Given the description of an element on the screen output the (x, y) to click on. 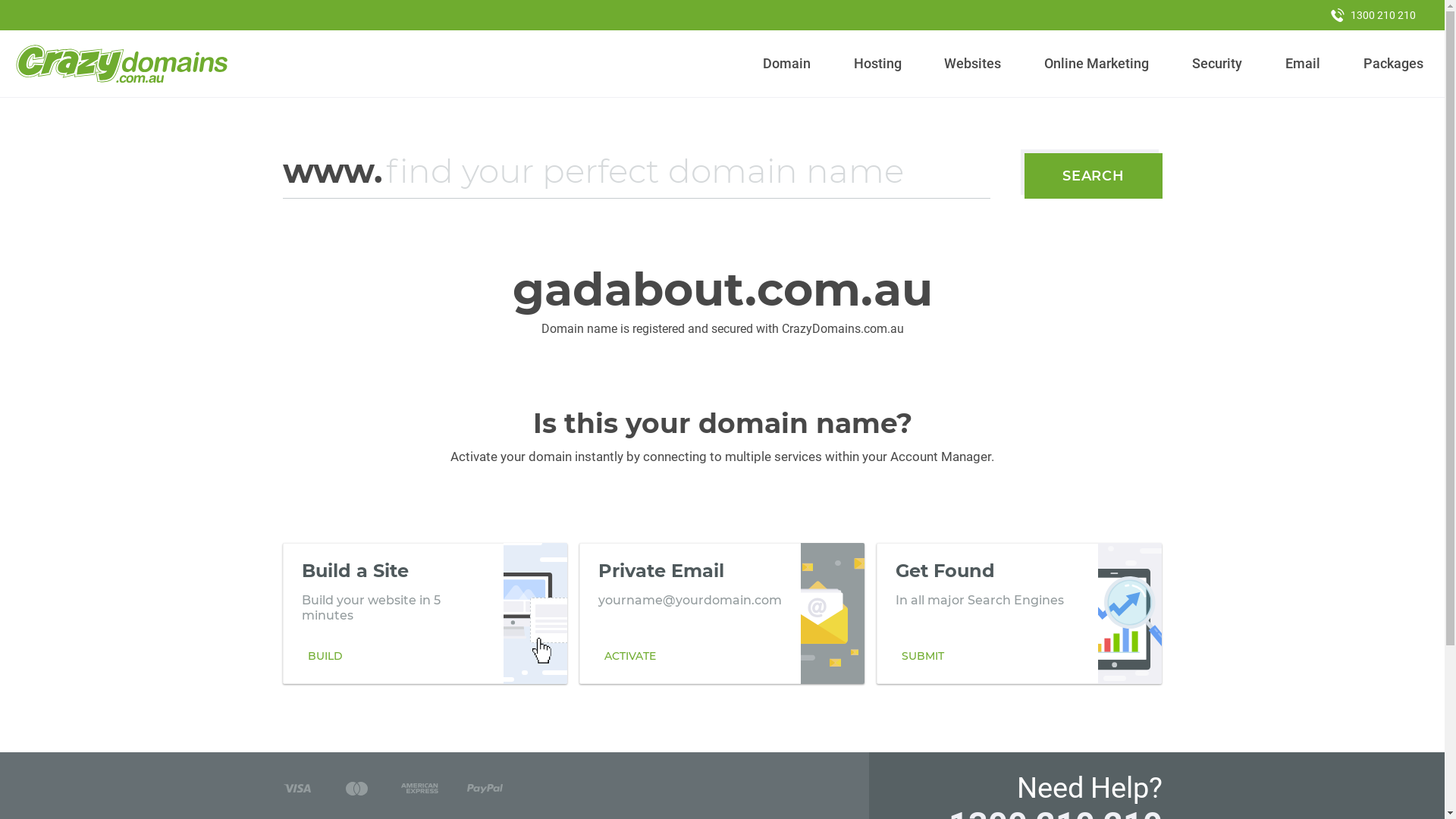
Online Marketing Element type: text (1096, 63)
Build a Site
Build your website in 5 minutes
BUILD Element type: text (424, 613)
SEARCH Element type: text (1092, 175)
Private Email
yourname@yourdomain.com
ACTIVATE Element type: text (721, 613)
Email Element type: text (1302, 63)
Websites Element type: text (972, 63)
Security Element type: text (1217, 63)
Domain Element type: text (786, 63)
Get Found
In all major Search Engines
SUBMIT Element type: text (1018, 613)
Packages Element type: text (1392, 63)
1300 210 210 Element type: text (1373, 15)
Hosting Element type: text (877, 63)
